Given the description of an element on the screen output the (x, y) to click on. 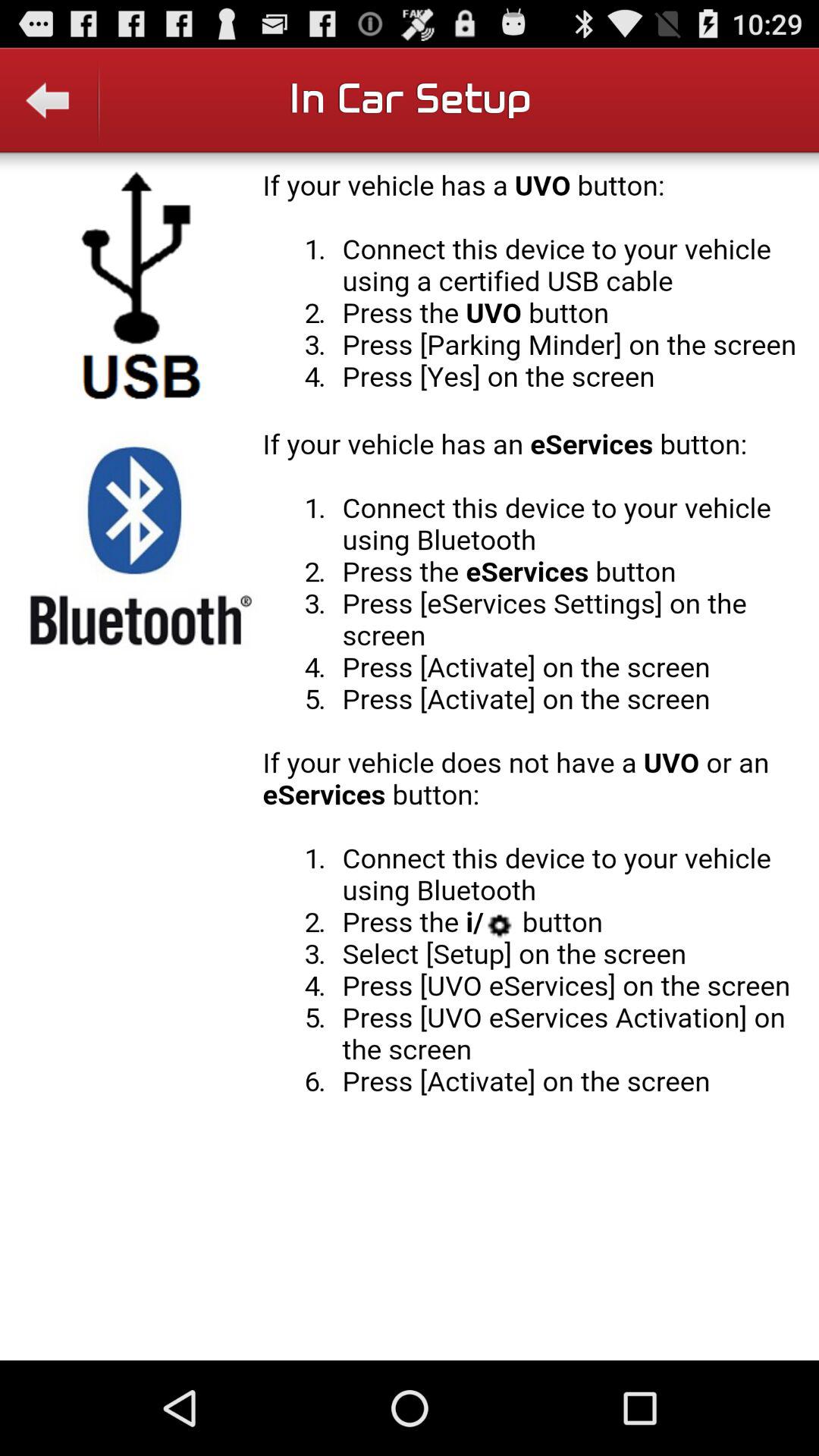
backword the option (49, 110)
